Given the description of an element on the screen output the (x, y) to click on. 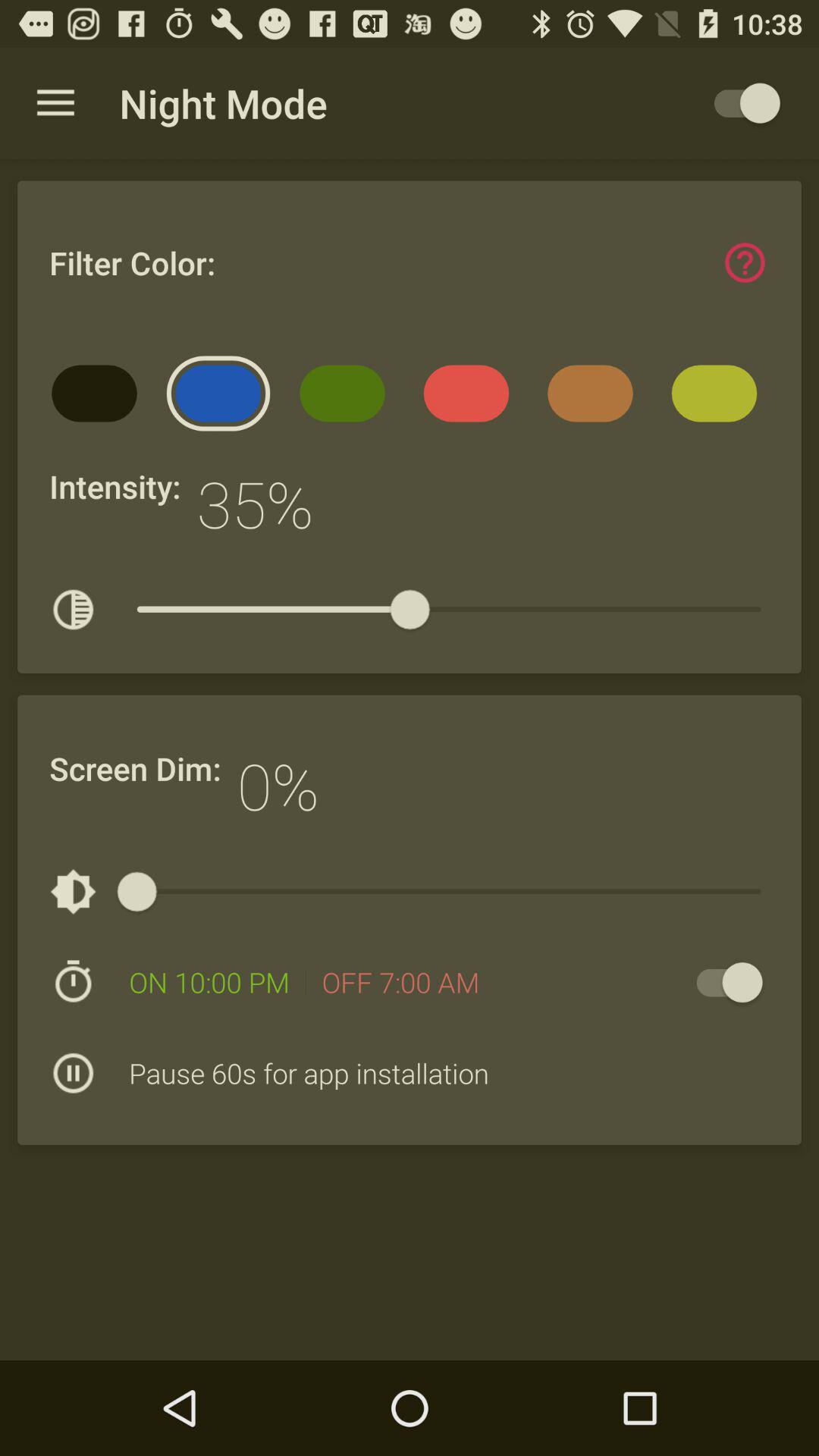
press item at the bottom right corner (722, 982)
